Given the description of an element on the screen output the (x, y) to click on. 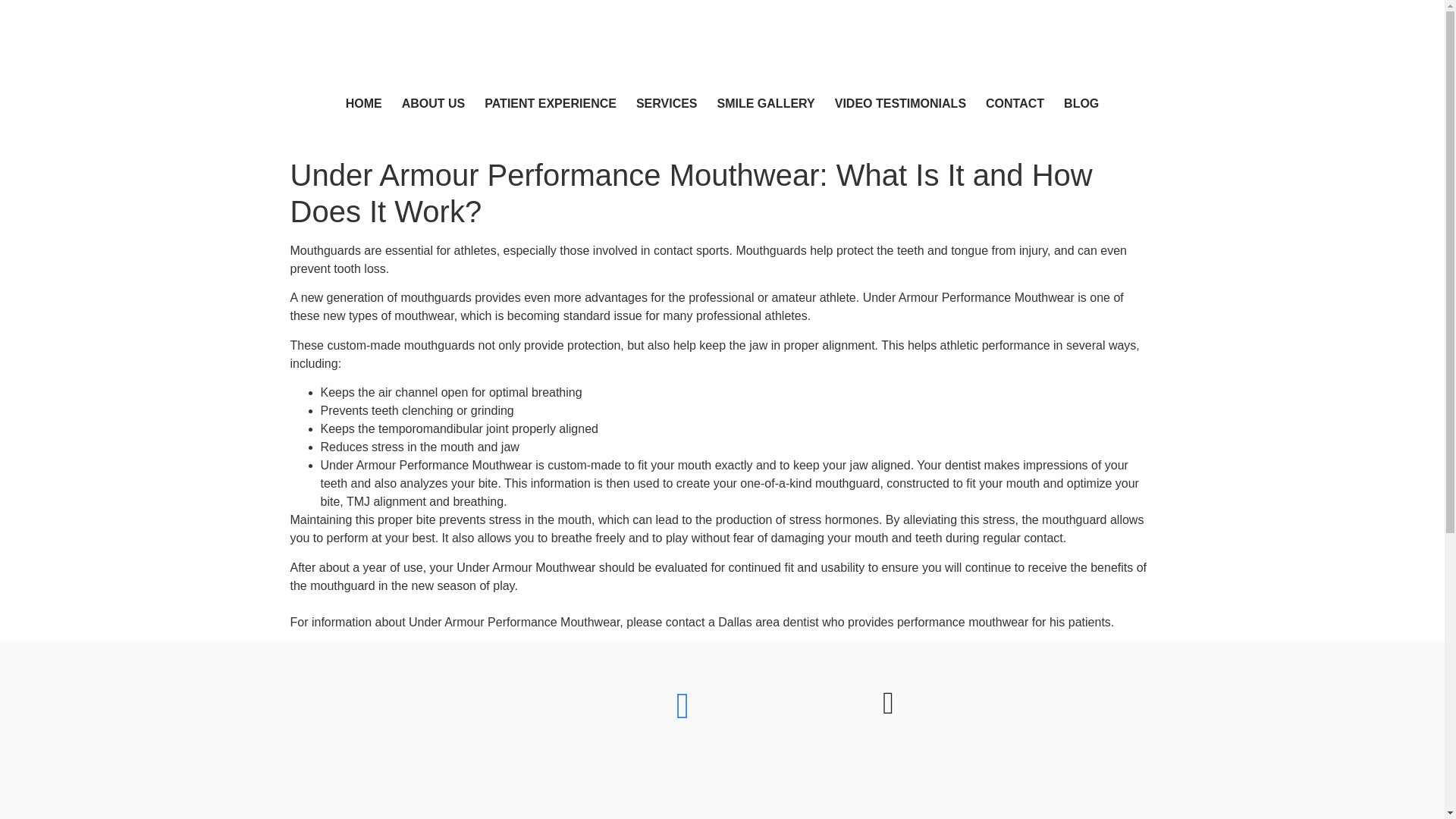
HOME (363, 103)
PATIENT EXPERIENCE (550, 103)
ABOUT US (433, 103)
SERVICES (666, 103)
BLOG (1080, 103)
CONTACT (1014, 103)
SMILE GALLERY (766, 103)
VIDEO TESTIMONIALS (900, 103)
